Given the description of an element on the screen output the (x, y) to click on. 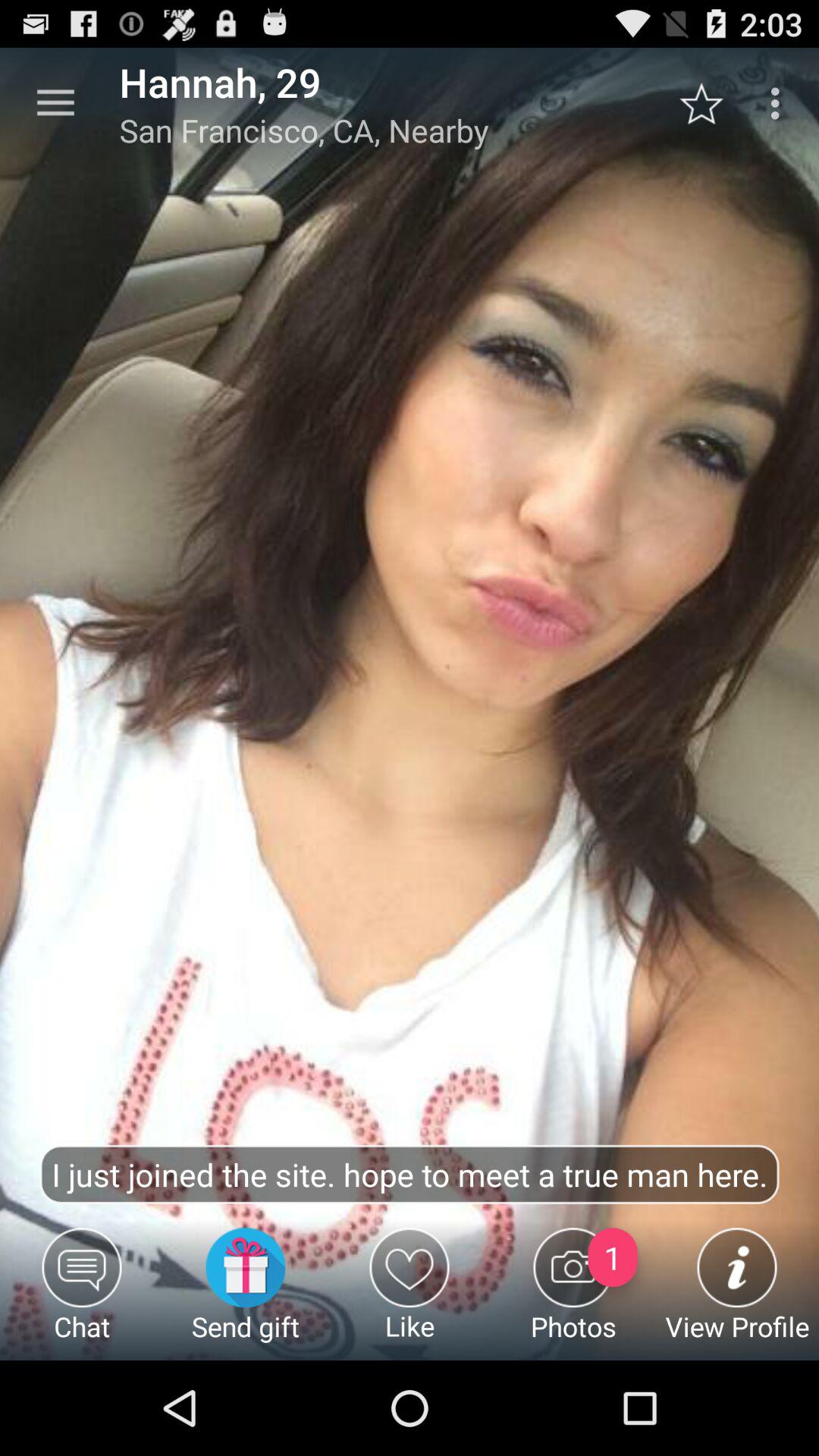
choose the item next to like (245, 1293)
